Given the description of an element on the screen output the (x, y) to click on. 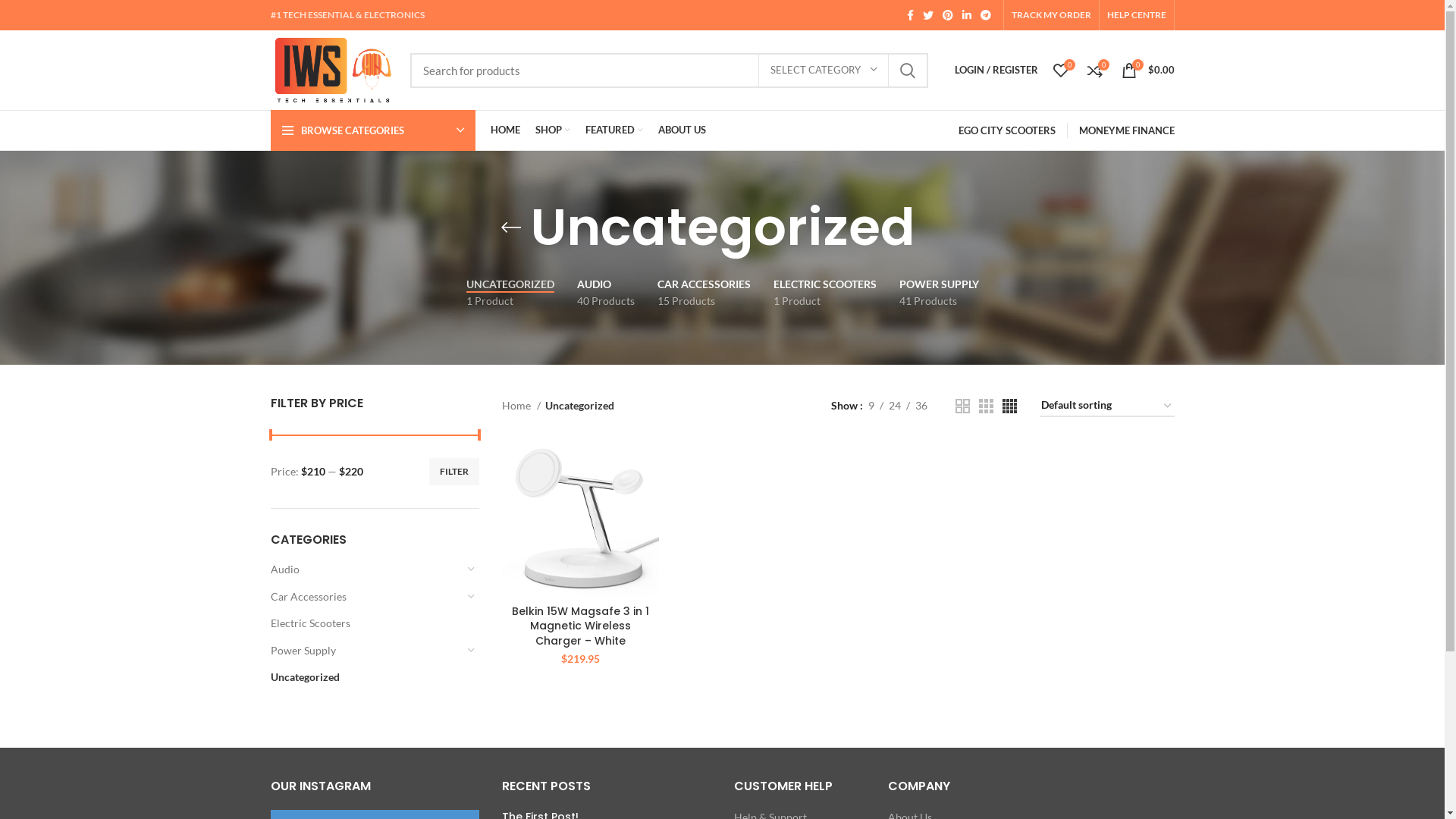
Car Accessories Element type: text (364, 596)
SEARCH Element type: text (907, 70)
HELP CENTRE Element type: text (1136, 14)
SELECT CATEGORY Element type: text (823, 70)
0 Element type: text (1059, 69)
36 Element type: text (921, 405)
24 Element type: text (893, 405)
UNCATEGORIZED
1 Product Element type: text (510, 293)
0 Element type: text (1094, 69)
LOGIN / REGISTER Element type: text (995, 69)
CAR ACCESSORIES
15 Products Element type: text (704, 293)
Power Supply Element type: text (364, 650)
ABOUT US Element type: text (681, 130)
Search for products Element type: hover (668, 70)
ELECTRIC SCOOTERS
1 Product Element type: text (824, 293)
9 Element type: text (870, 405)
EGO CITY SCOOTERS Element type: text (1006, 130)
POWER SUPPLY
41 Products Element type: text (938, 293)
MONEYME FINANCE Element type: text (1125, 130)
FILTER Element type: text (454, 471)
Audio Element type: text (364, 569)
Electric Scooters Element type: text (364, 623)
HOME Element type: text (504, 130)
AUDIO
40 Products Element type: text (605, 293)
Home Element type: text (521, 405)
0
$0.00 Element type: text (1147, 69)
TRACK MY ORDER Element type: text (1051, 14)
SHOP Element type: text (552, 130)
Uncategorized Element type: text (364, 676)
FEATURED Element type: text (613, 130)
